Given the description of an element on the screen output the (x, y) to click on. 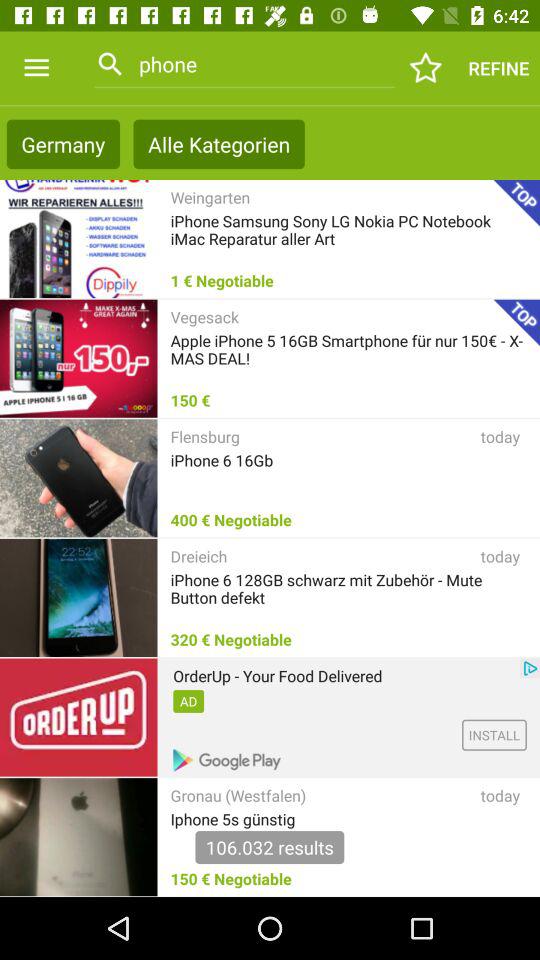
swipe to orderup your food (277, 675)
